Given the description of an element on the screen output the (x, y) to click on. 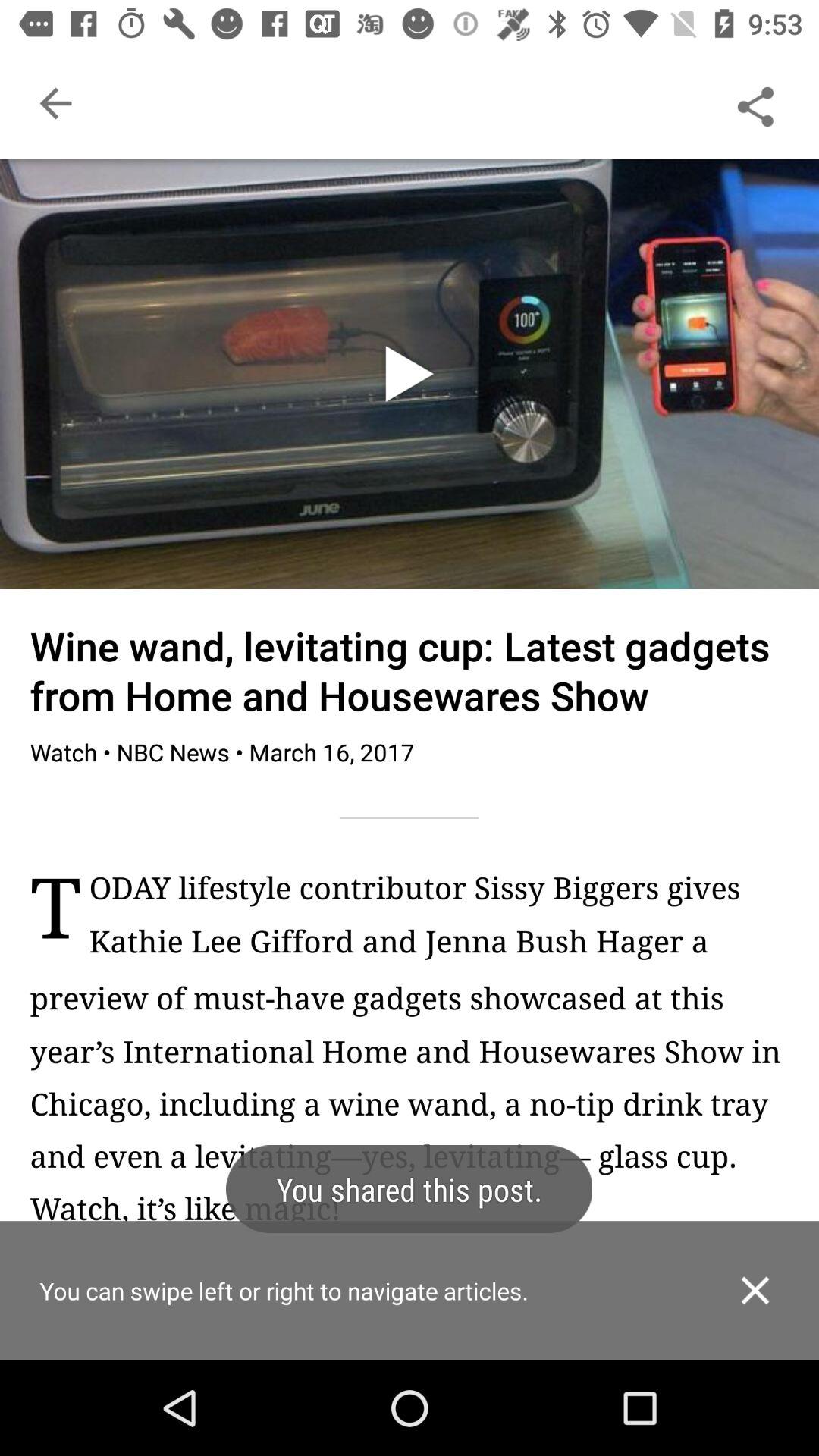
play the video (408, 373)
